Given the description of an element on the screen output the (x, y) to click on. 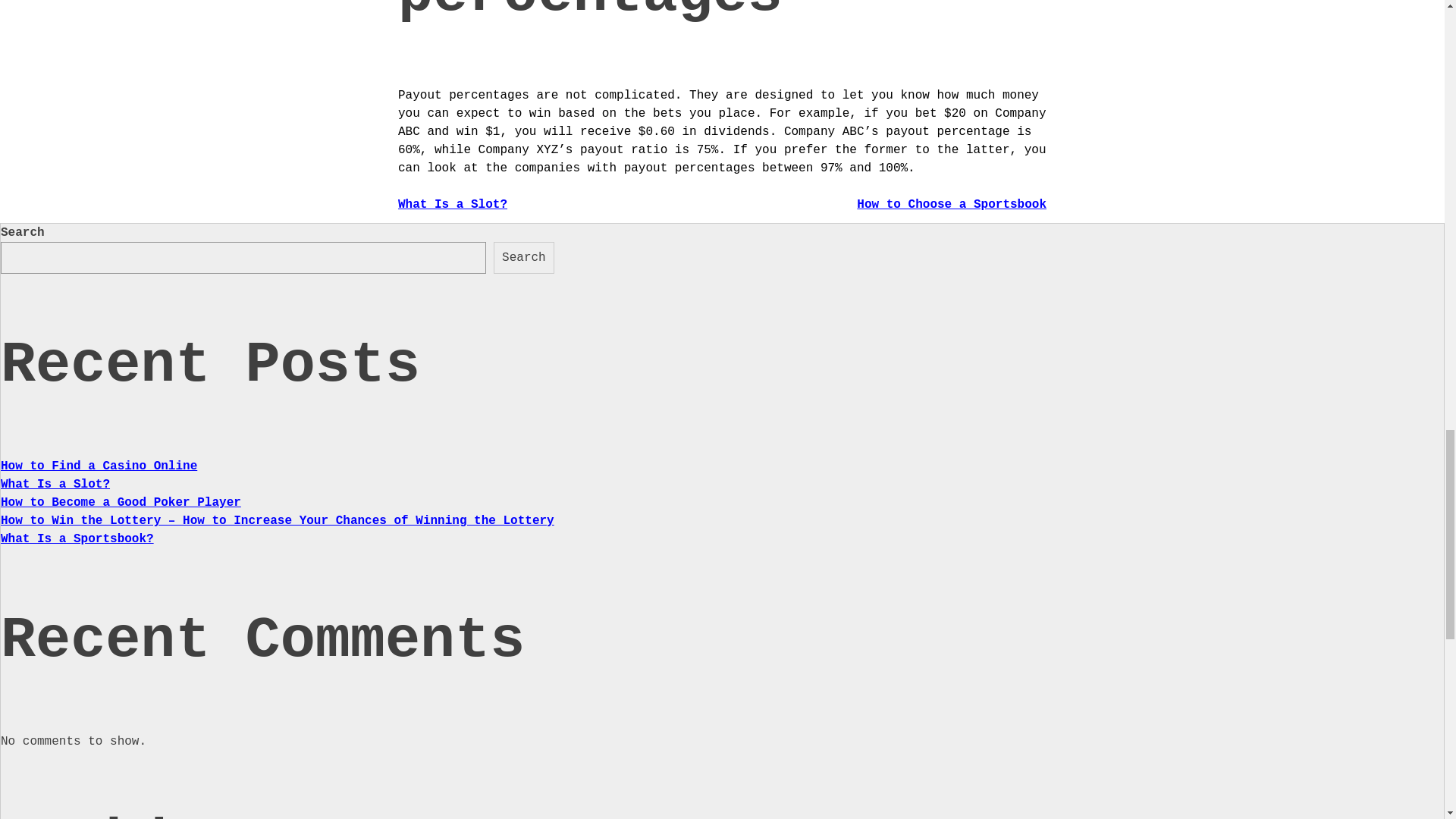
How to Become a Good Poker Player (121, 502)
What Is a Sportsbook? (77, 539)
How to Find a Casino Online (98, 466)
How to Choose a Sportsbook (951, 204)
What Is a Slot? (55, 484)
Search (523, 257)
What Is a Slot? (451, 204)
